Given the description of an element on the screen output the (x, y) to click on. 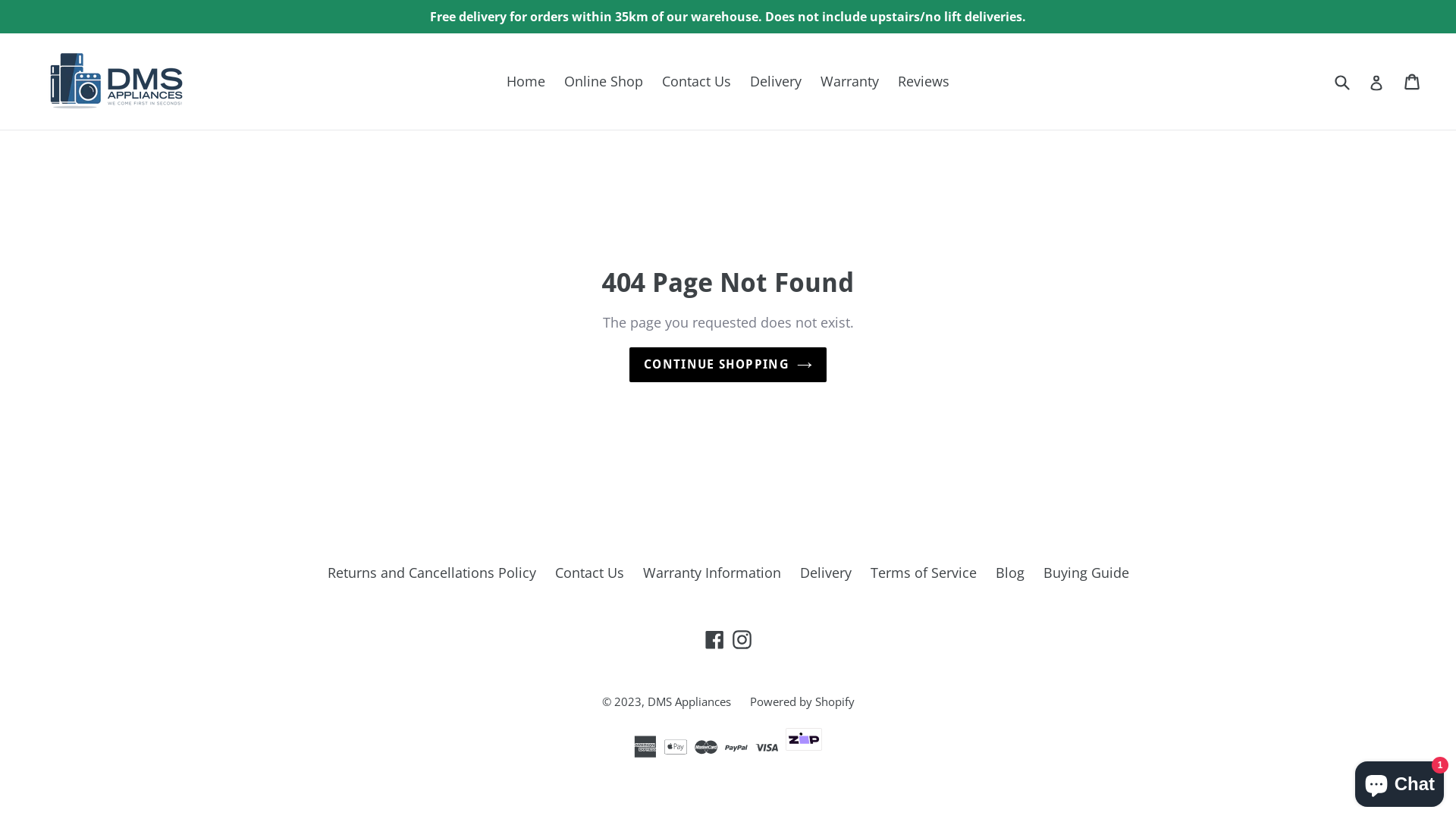
Contact Us Element type: text (696, 81)
Contact Us Element type: text (589, 572)
Buying Guide Element type: text (1086, 572)
Log in Element type: text (1375, 81)
Facebook Element type: text (713, 638)
Cart
Cart Element type: text (1412, 80)
Online Shop Element type: text (603, 81)
Powered by Shopify Element type: text (801, 701)
Home Element type: text (525, 81)
Shopify online store chat Element type: hover (1399, 780)
Reviews Element type: text (923, 81)
CONTINUE SHOPPING Element type: text (727, 364)
Instagram Element type: text (741, 638)
Blog Element type: text (1008, 572)
Delivery Element type: text (775, 81)
Returns and Cancellations Policy Element type: text (431, 572)
Warranty Information Element type: text (712, 572)
Delivery Element type: text (824, 572)
DMS Appliances Element type: text (689, 701)
Warranty Element type: text (849, 81)
Terms of Service Element type: text (923, 572)
Submit Element type: text (1341, 81)
